Given the description of an element on the screen output the (x, y) to click on. 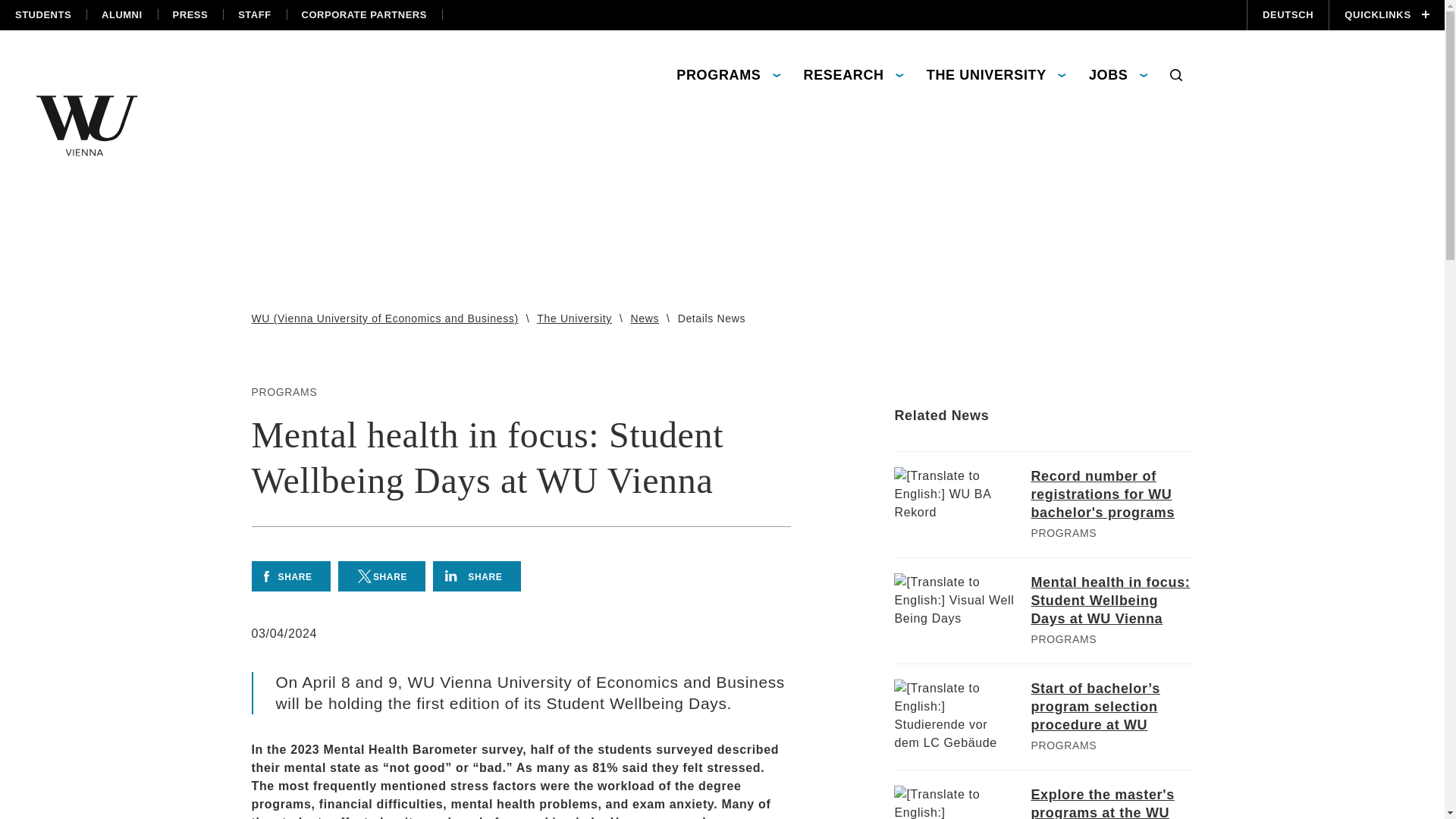
Explore the master's programs at the WU Master's Day (1111, 802)
ALUMNI (121, 15)
STUDENTS (42, 15)
Instagram (1075, 4)
LinkedIn (1181, 4)
Record number of registrations for WU bachelor's programs (1111, 493)
Programs (1063, 533)
PRESS (190, 15)
CORPORATE PARTNERS (364, 15)
Mental health in focus: Student Wellbeing Days at WU Vienna (1111, 600)
